Given the description of an element on the screen output the (x, y) to click on. 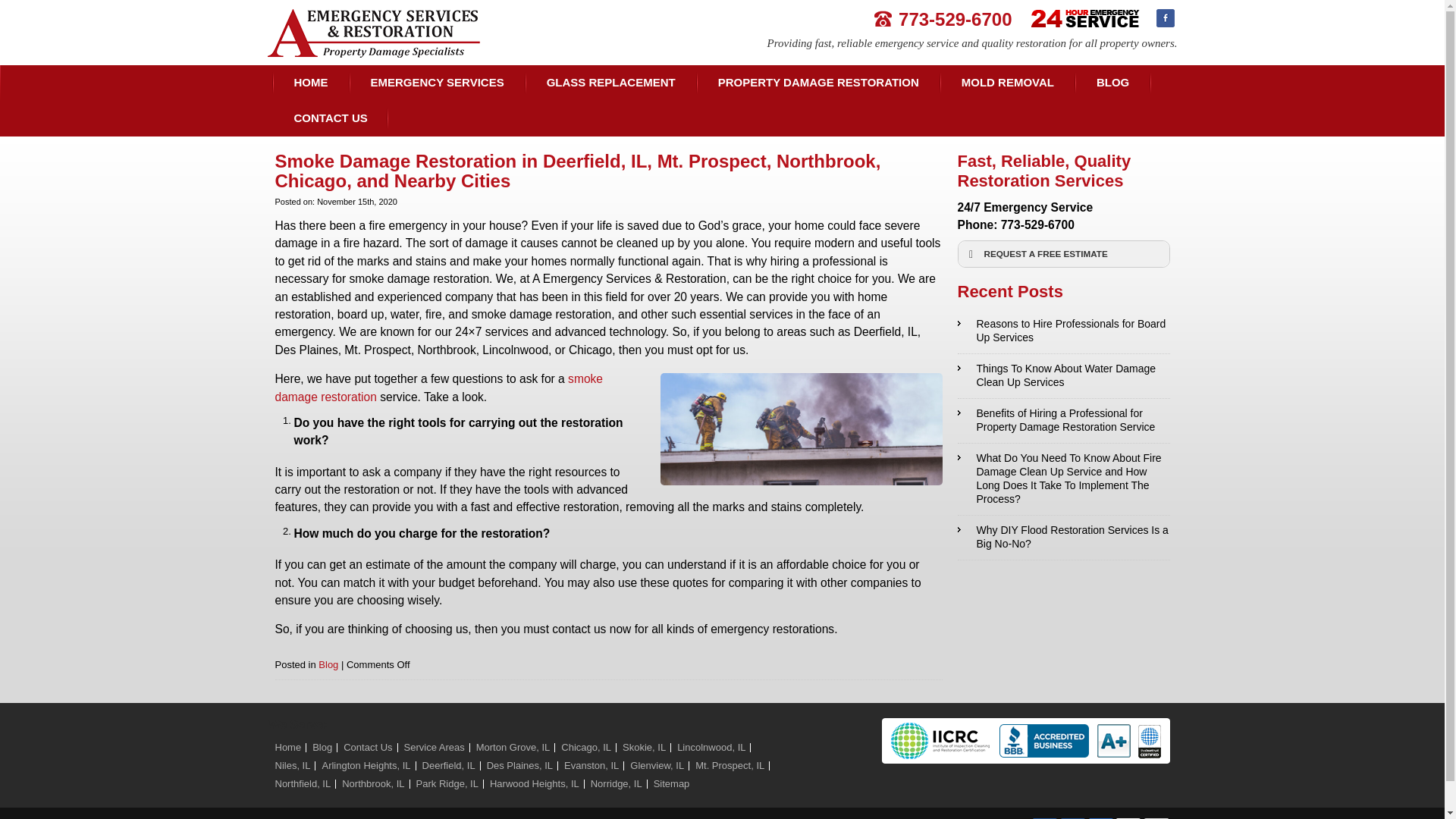
HOME (310, 82)
GLASS REPLACEMENT (610, 82)
Deerfield, IL (449, 765)
Facebook (1164, 18)
smoke damage restoration (438, 387)
Lincolnwood, IL (711, 747)
773-529-6700 (943, 18)
Niles, IL (292, 765)
Service Areas (434, 747)
773-529-6700 (1037, 224)
PROPERTY DAMAGE RESTORATION (818, 82)
Things To Know About Water Damage Clean Up Services (1066, 375)
Mt. Prospect, IL (729, 765)
EMERGENCY SERVICES (437, 82)
